Given the description of an element on the screen output the (x, y) to click on. 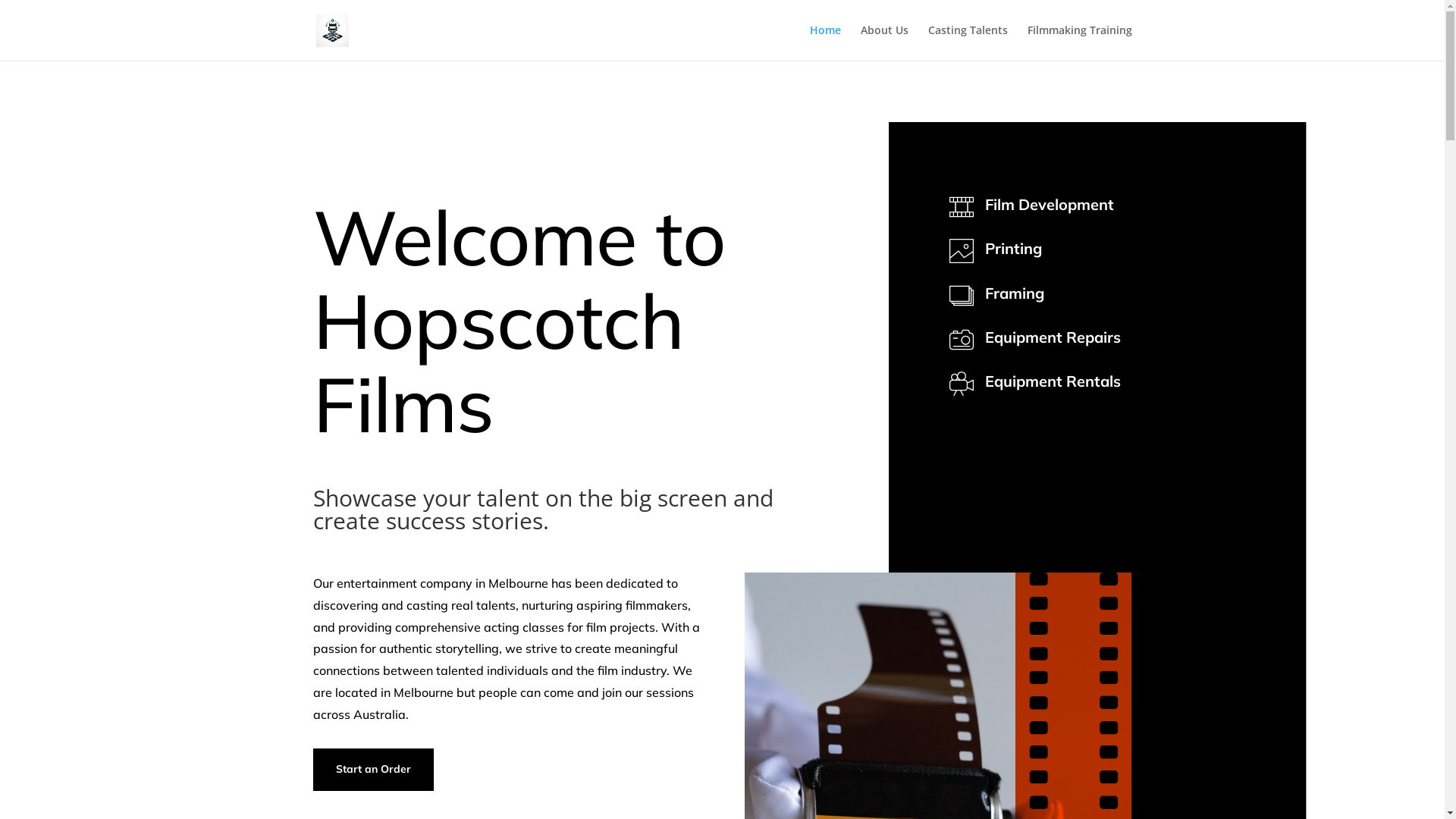
Casting Talents Element type: text (967, 42)
Filmmaking Training Element type: text (1078, 42)
Home Element type: text (824, 42)
Start an Order Element type: text (372, 769)
About Us Element type: text (883, 42)
